Given the description of an element on the screen output the (x, y) to click on. 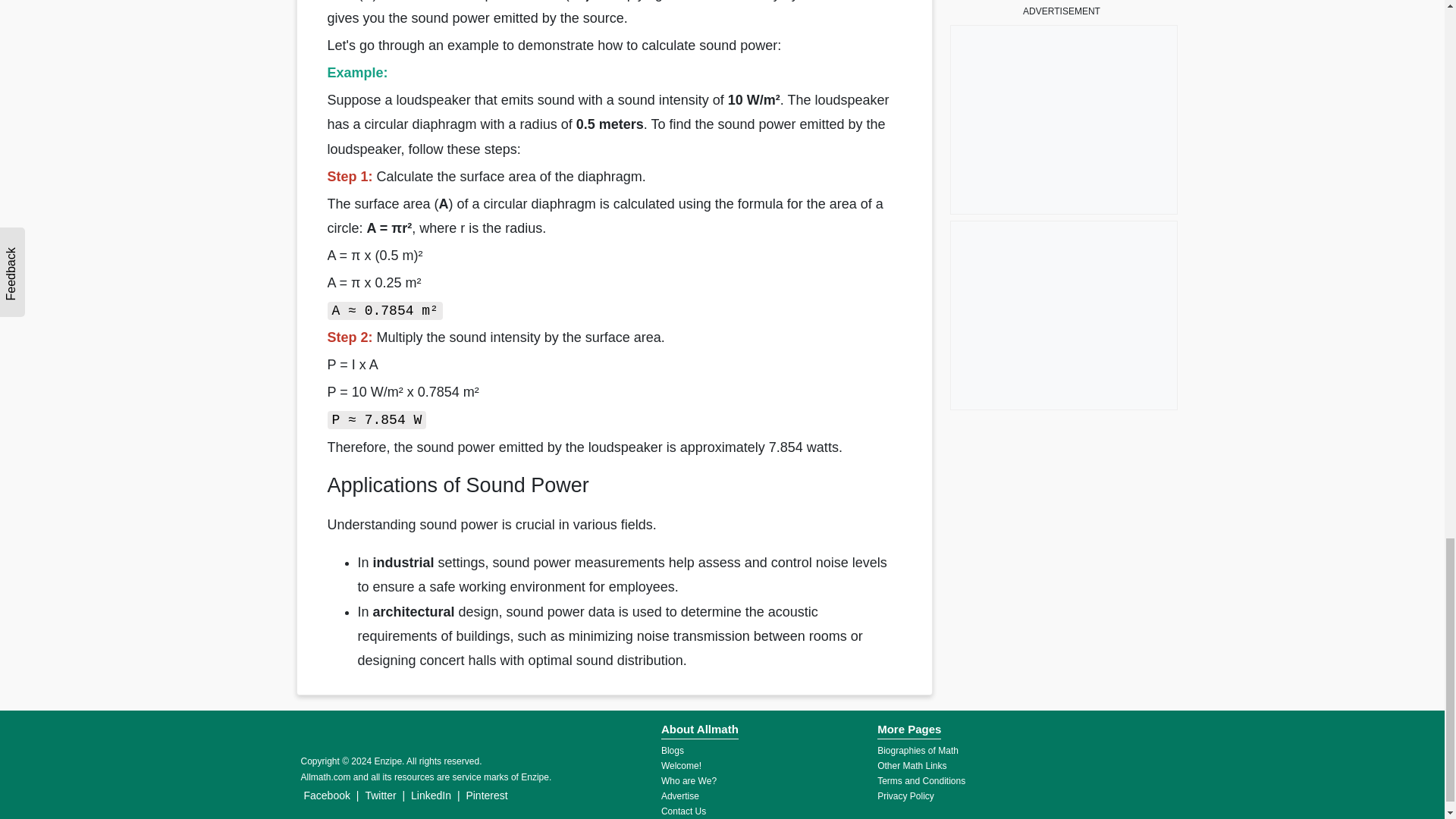
Welcome! (681, 765)
Terms and Conditions (921, 780)
Allmath.com (324, 777)
Other Math Links (911, 765)
X (1434, 9)
LinkedIn (430, 795)
Biographies of Math (917, 750)
Advertise (679, 796)
Blogs (672, 750)
Twitter (379, 795)
